Given the description of an element on the screen output the (x, y) to click on. 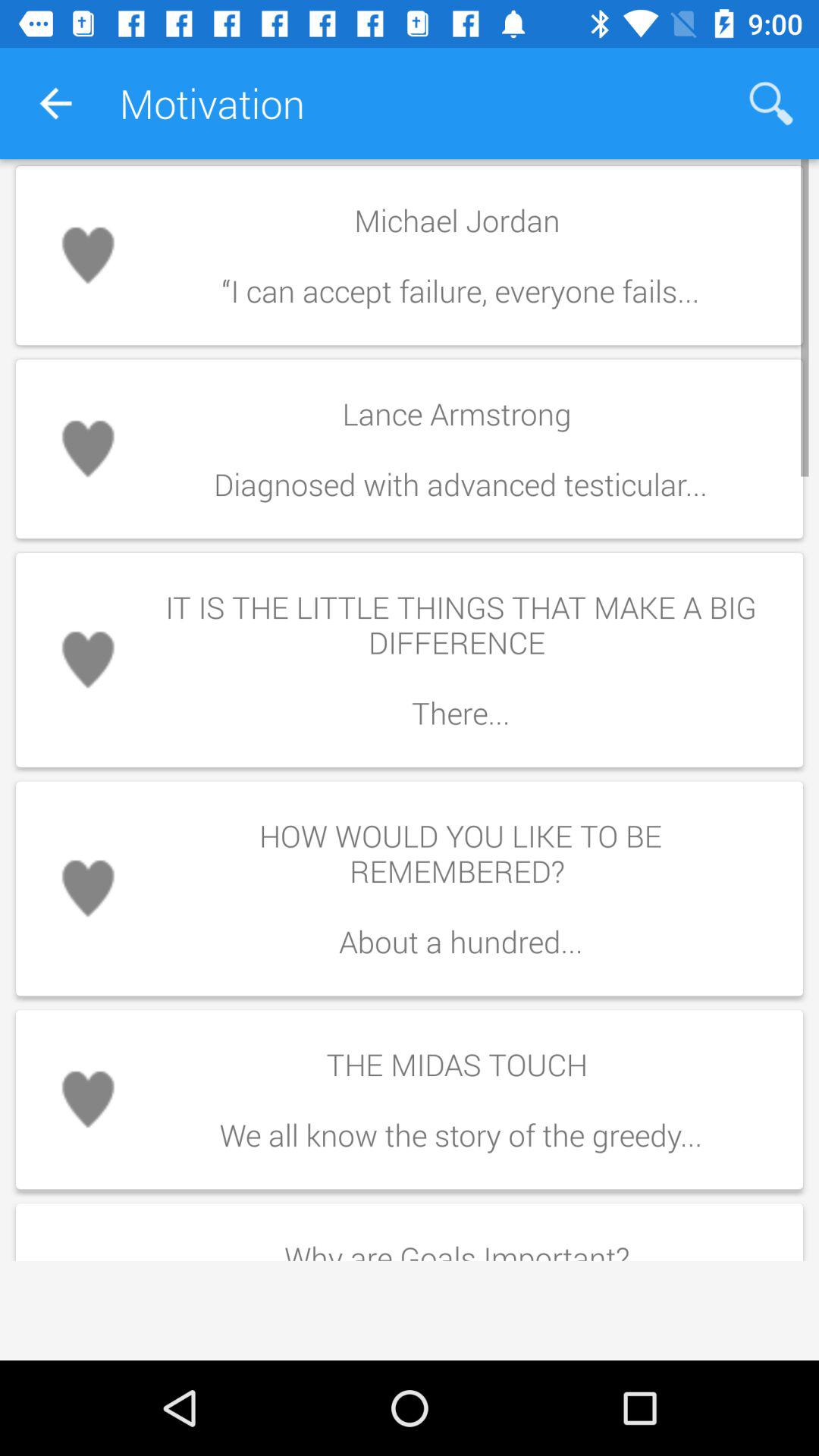
turn off the why are goals (460, 1243)
